Given the description of an element on the screen output the (x, y) to click on. 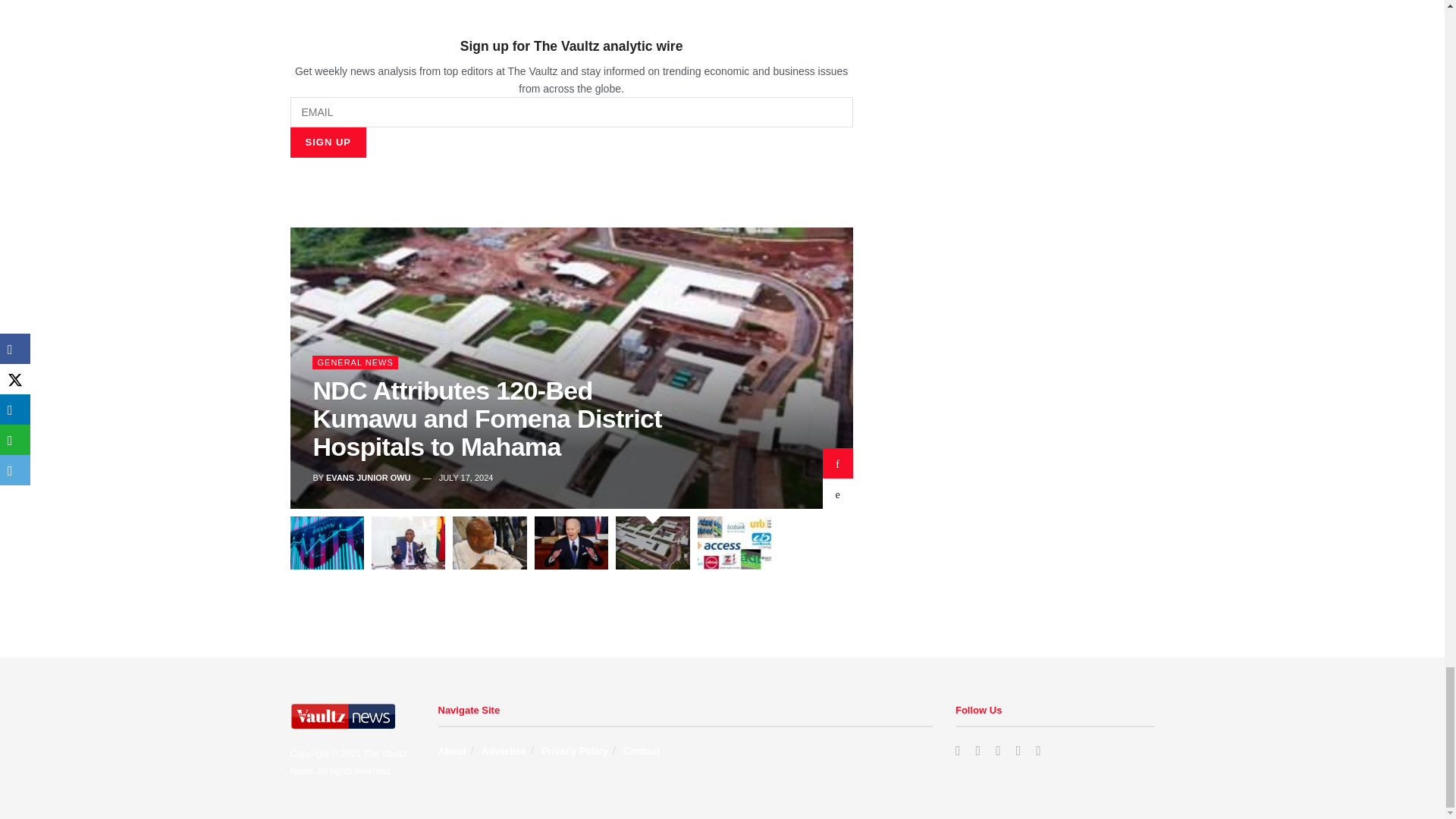
Sign up (327, 142)
